Given the description of an element on the screen output the (x, y) to click on. 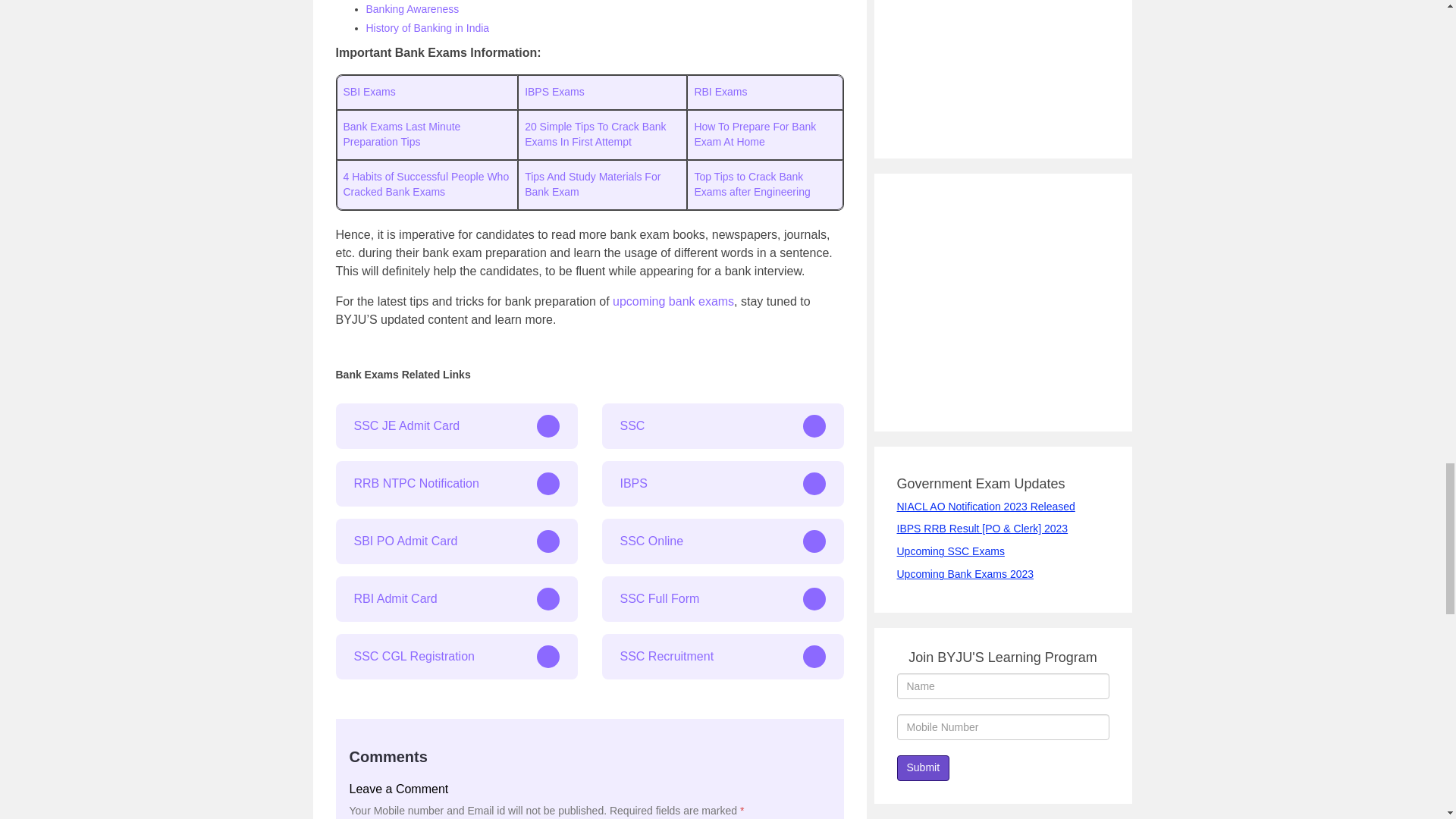
SSC JE Admit Card (455, 425)
SBI PO Admit Card (455, 541)
SSC (723, 425)
IBPS (723, 483)
SSC Recruitment (723, 656)
SSC Online (723, 541)
SSC CGL Registration (455, 656)
SSC Full Form (723, 598)
RBI Admit Card (455, 598)
RRB NTPC Notification (455, 483)
